Given the description of an element on the screen output the (x, y) to click on. 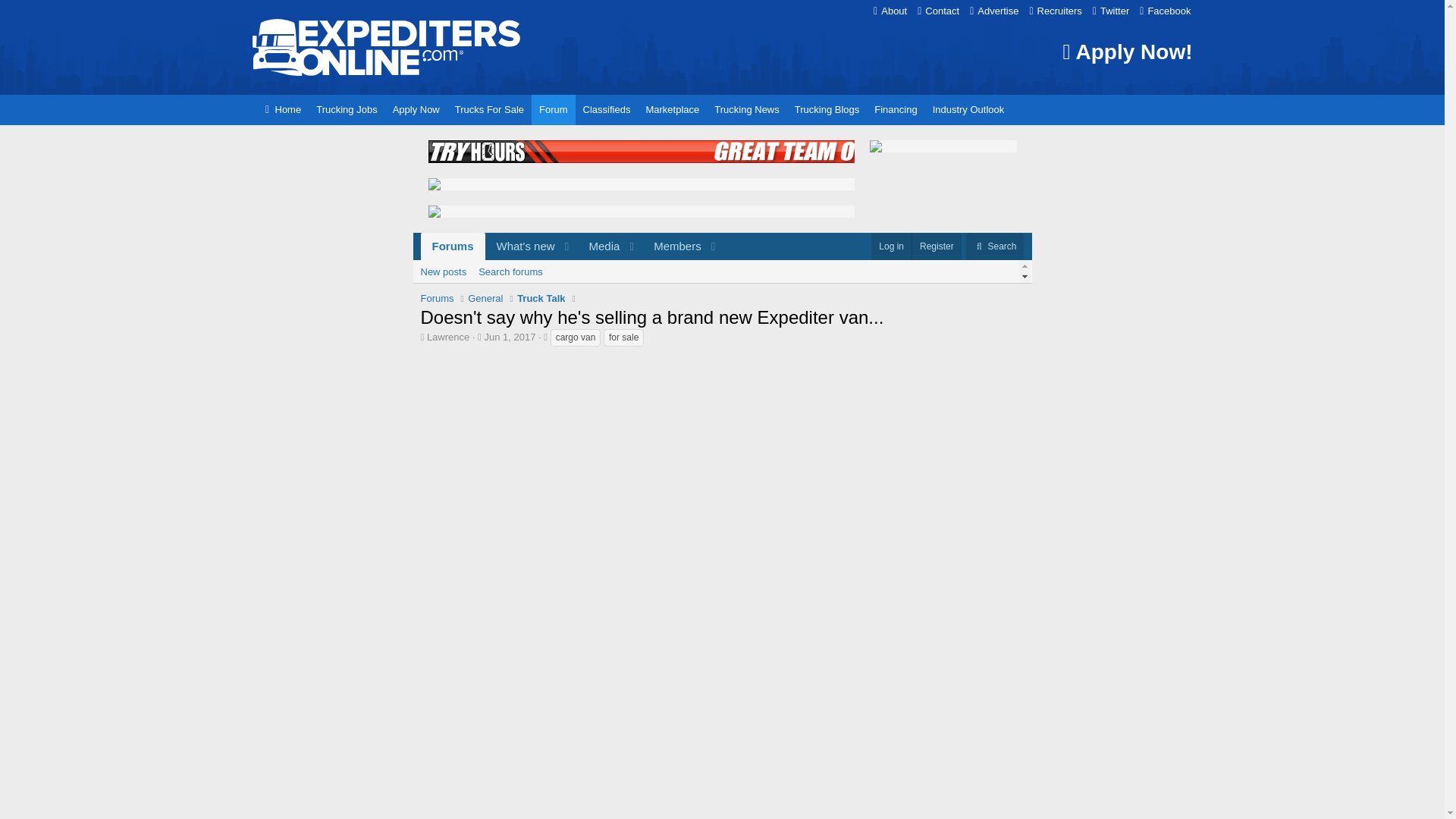
Trucking News (746, 110)
What's new (520, 246)
Financing (895, 110)
Forum (571, 246)
Forums (553, 110)
Contact (452, 246)
Facebook (937, 11)
Trucking Jobs (1164, 11)
Industry Outlook (346, 110)
Twitter (967, 110)
Advertise (1110, 11)
Recruiters (721, 271)
Apply Now (993, 11)
